Given the description of an element on the screen output the (x, y) to click on. 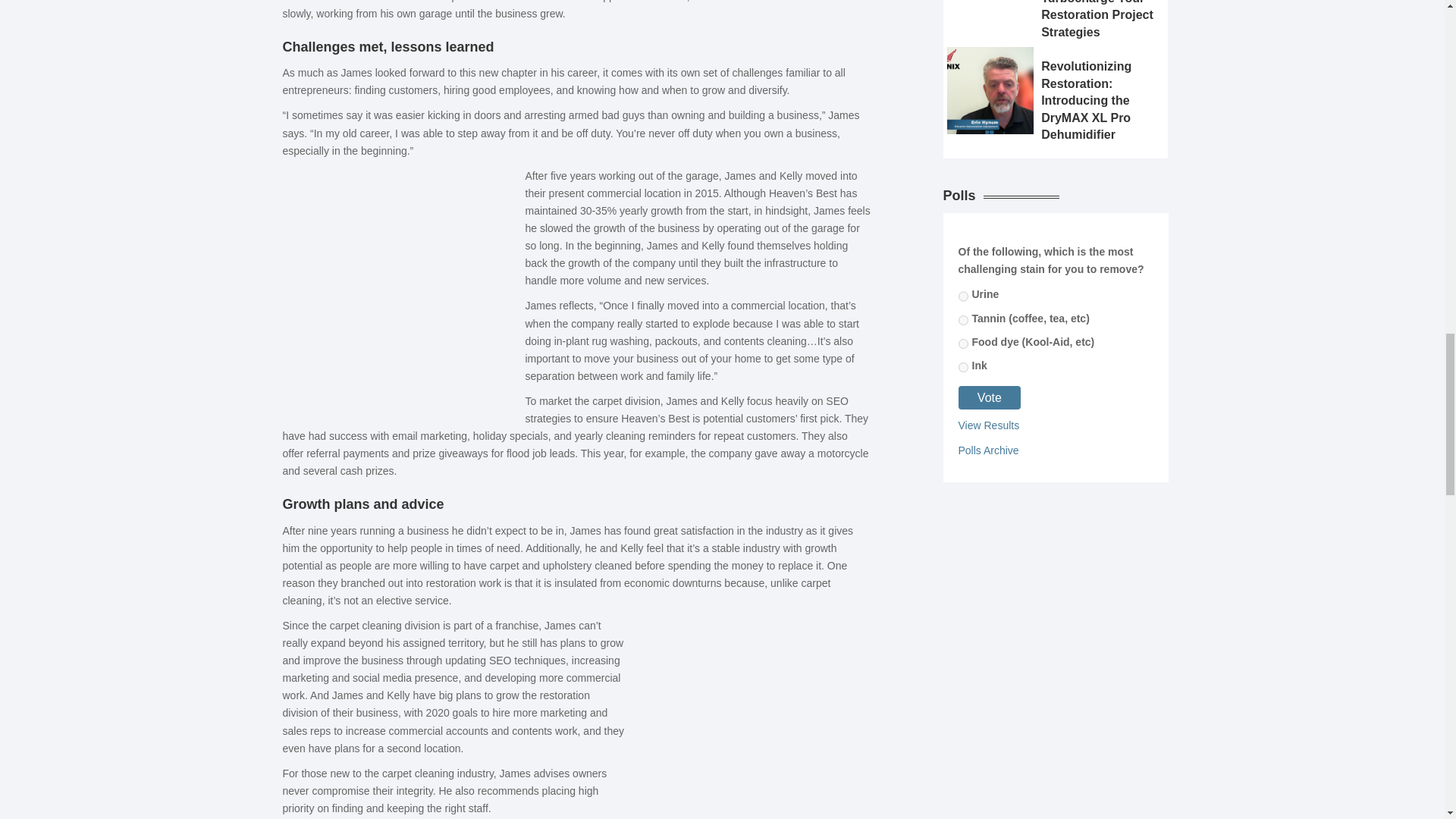
   Vote    (990, 397)
